Given the description of an element on the screen output the (x, y) to click on. 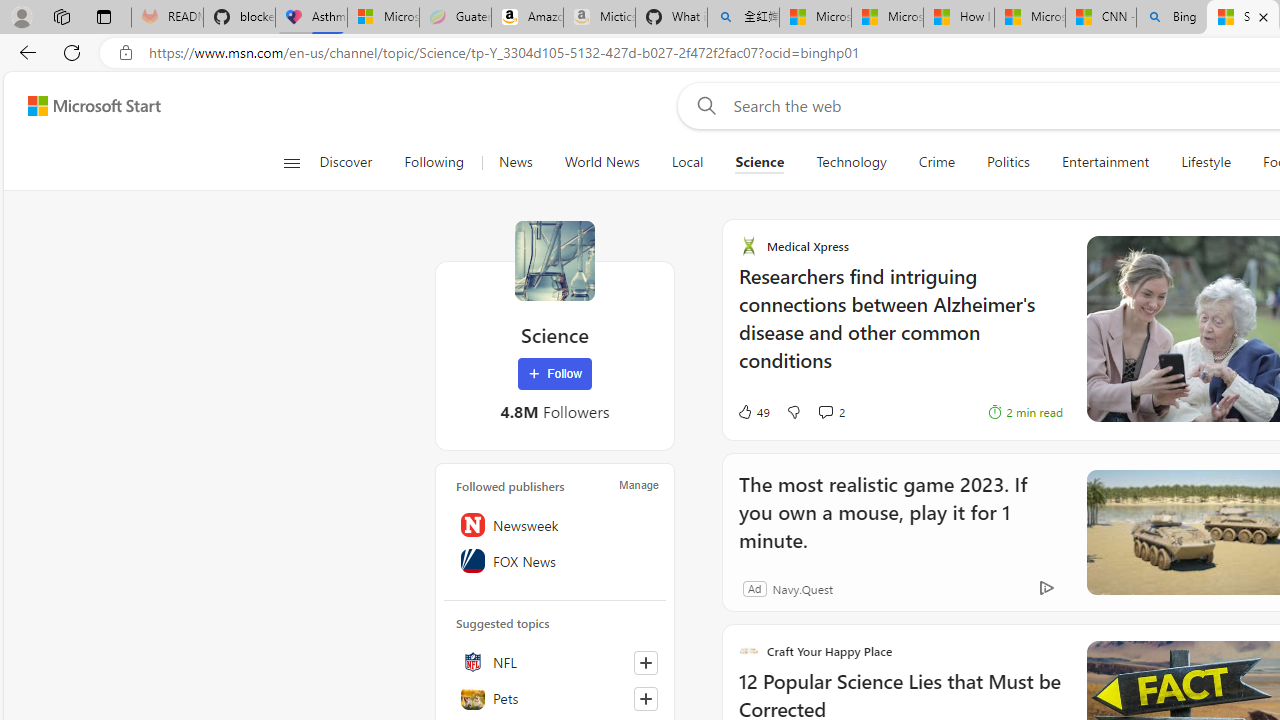
Web search (702, 105)
News (515, 162)
Microsoft Start (1029, 17)
View comments 2 Comment (825, 411)
Technology (851, 162)
Microsoft-Report a Concern to Bing (383, 17)
Science (760, 162)
Follow (554, 373)
Dislike (793, 412)
49 Like (753, 412)
Manage (639, 484)
Science (759, 162)
View comments 2 Comment (830, 412)
